Given the description of an element on the screen output the (x, y) to click on. 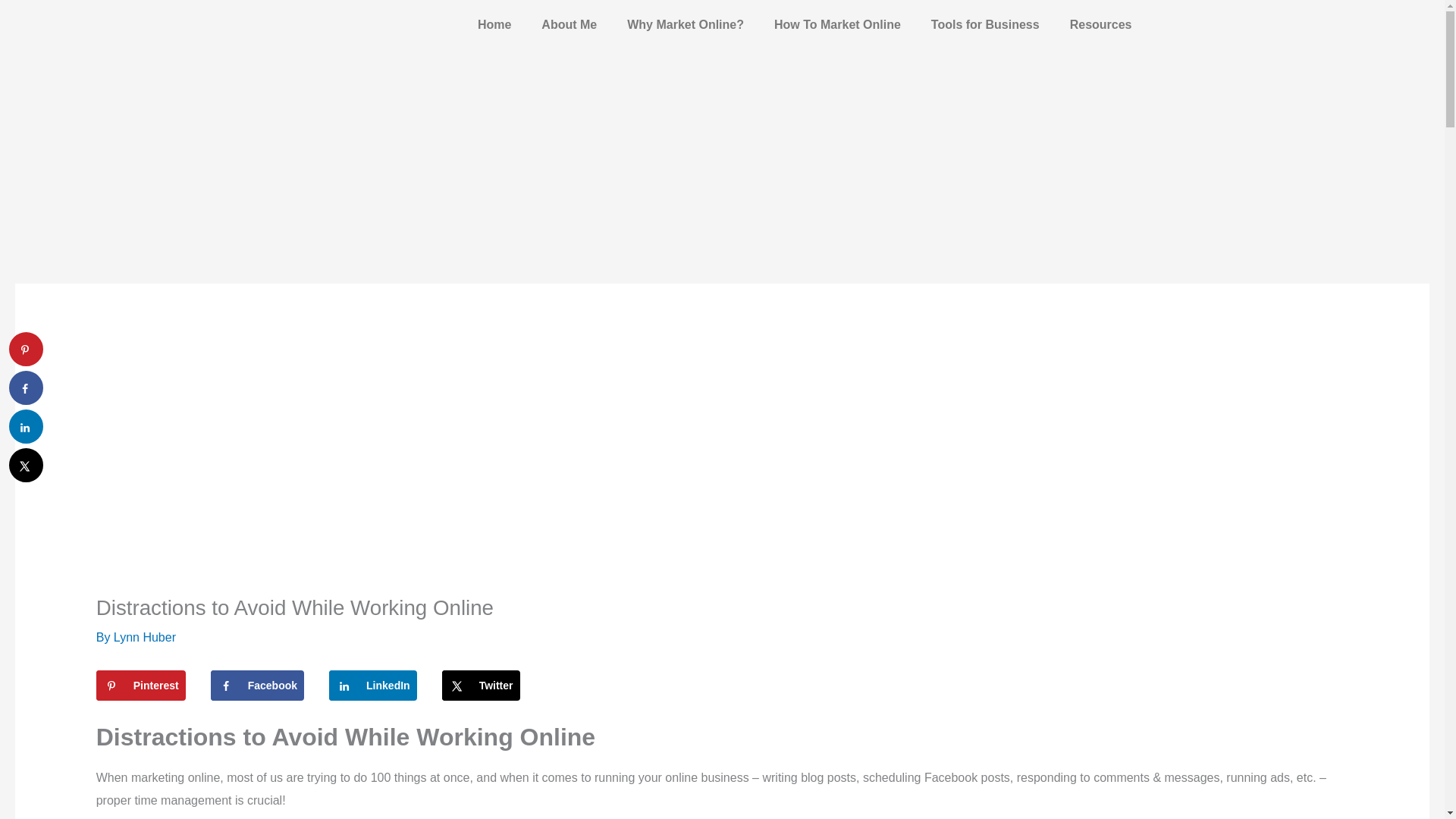
How To Market Online (836, 24)
View all posts by Lynn Huber (144, 636)
Pinterest (141, 685)
Facebook (257, 685)
Save to Pinterest (141, 685)
Home (494, 24)
Resources (1100, 24)
Tools for Business (984, 24)
Why Market Online? (684, 24)
Twitter (480, 685)
